Given the description of an element on the screen output the (x, y) to click on. 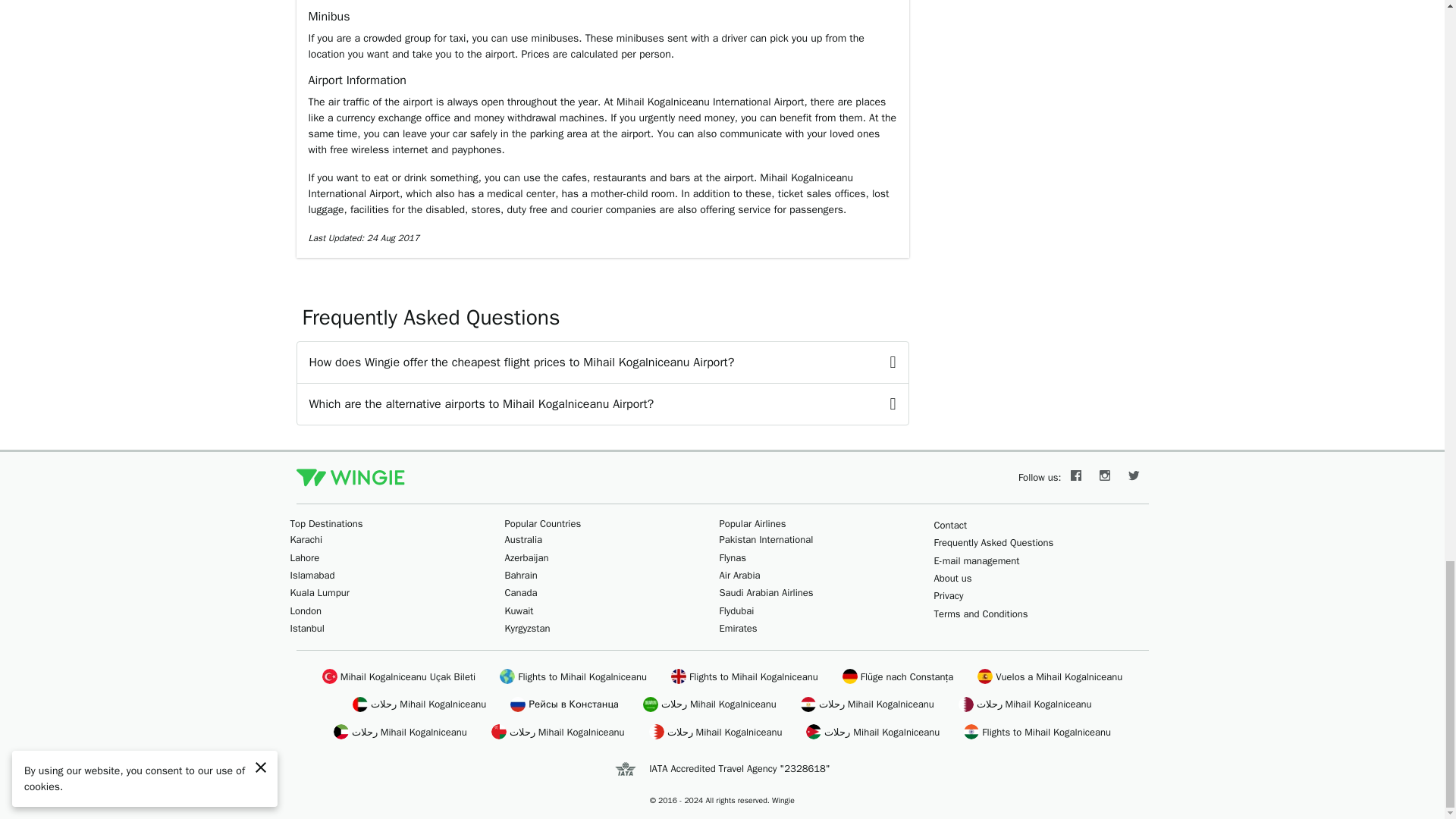
Bahrain (521, 574)
Popular Airlines (752, 522)
Azerbaijan (526, 557)
Popular Countries (542, 522)
Kuwait (519, 610)
Instagram (1104, 477)
Australia (524, 539)
Lahore (303, 557)
Top Destinations (325, 522)
London (305, 610)
Twitter (1133, 477)
Pakistan International (765, 539)
Facebook (1075, 477)
Istanbul (306, 627)
Canada (521, 592)
